Given the description of an element on the screen output the (x, y) to click on. 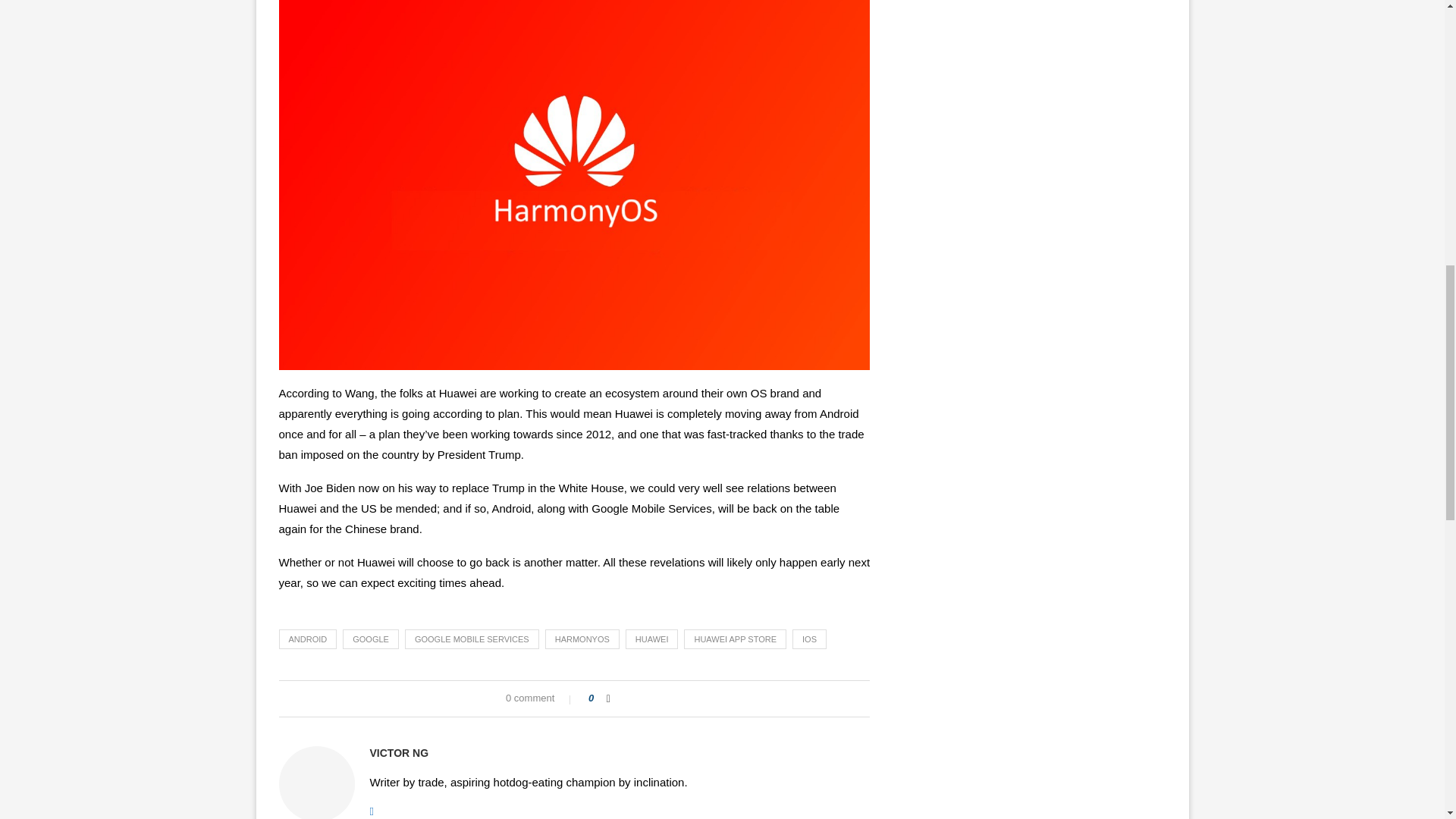
GOOGLE (370, 639)
HUAWEI APP STORE (735, 639)
VICTOR NG (399, 753)
Author Victor Ng (399, 753)
ANDROID (308, 639)
HARMONYOS (582, 639)
IOS (809, 639)
GOOGLE MOBILE SERVICES (471, 639)
HUAWEI (652, 639)
